Given the description of an element on the screen output the (x, y) to click on. 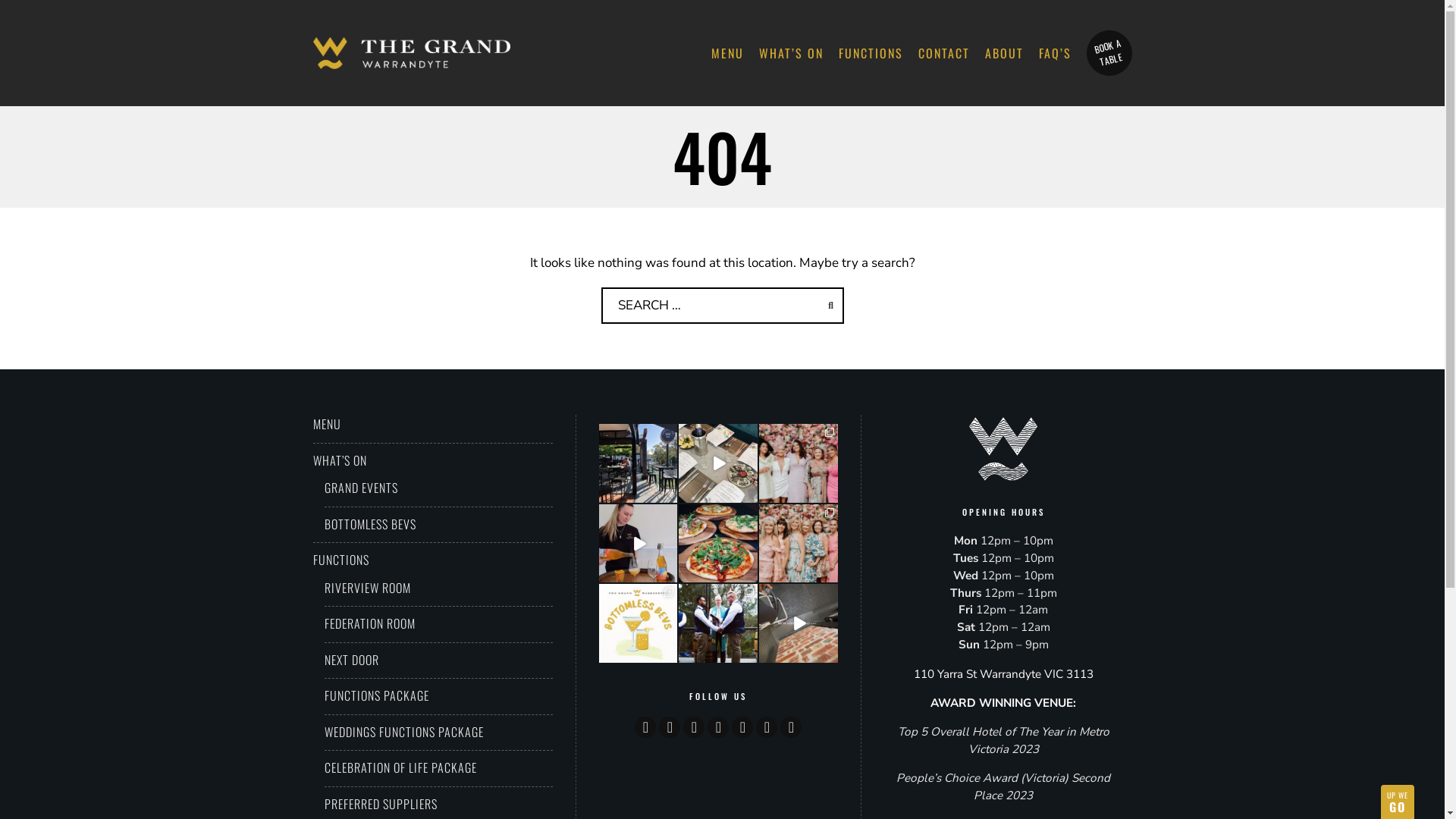
PREFERRED SUPPLIERS Element type: text (380, 803)
Go Element type: hover (830, 305)
FUNCTIONS Element type: text (340, 559)
GRAND EVENTS Element type: text (361, 487)
BOOK A
TABLE Element type: text (1103, 47)
FEDERATION ROOM Element type: text (369, 623)
FUNCTIONS Element type: text (870, 52)
RIVERVIEW ROOM Element type: text (367, 586)
MENU Element type: text (326, 423)
WEDDINGS FUNCTIONS PACKAGE Element type: text (403, 730)
MENU Element type: text (727, 52)
BOTTOMLESS BEVS Element type: text (370, 523)
AWARD WINNING VENUE: Element type: text (1003, 702)
ABOUT Element type: text (1003, 52)
FUNCTIONS PACKAGE Element type: text (376, 695)
CELEBRATION OF LIFE PACKAGE Element type: text (400, 767)
NEXT DOOR Element type: text (351, 659)
110 Yarra St Warrandyte VIC 3113 Element type: text (1003, 673)
CONTACT Element type: text (943, 52)
